Given the description of an element on the screen output the (x, y) to click on. 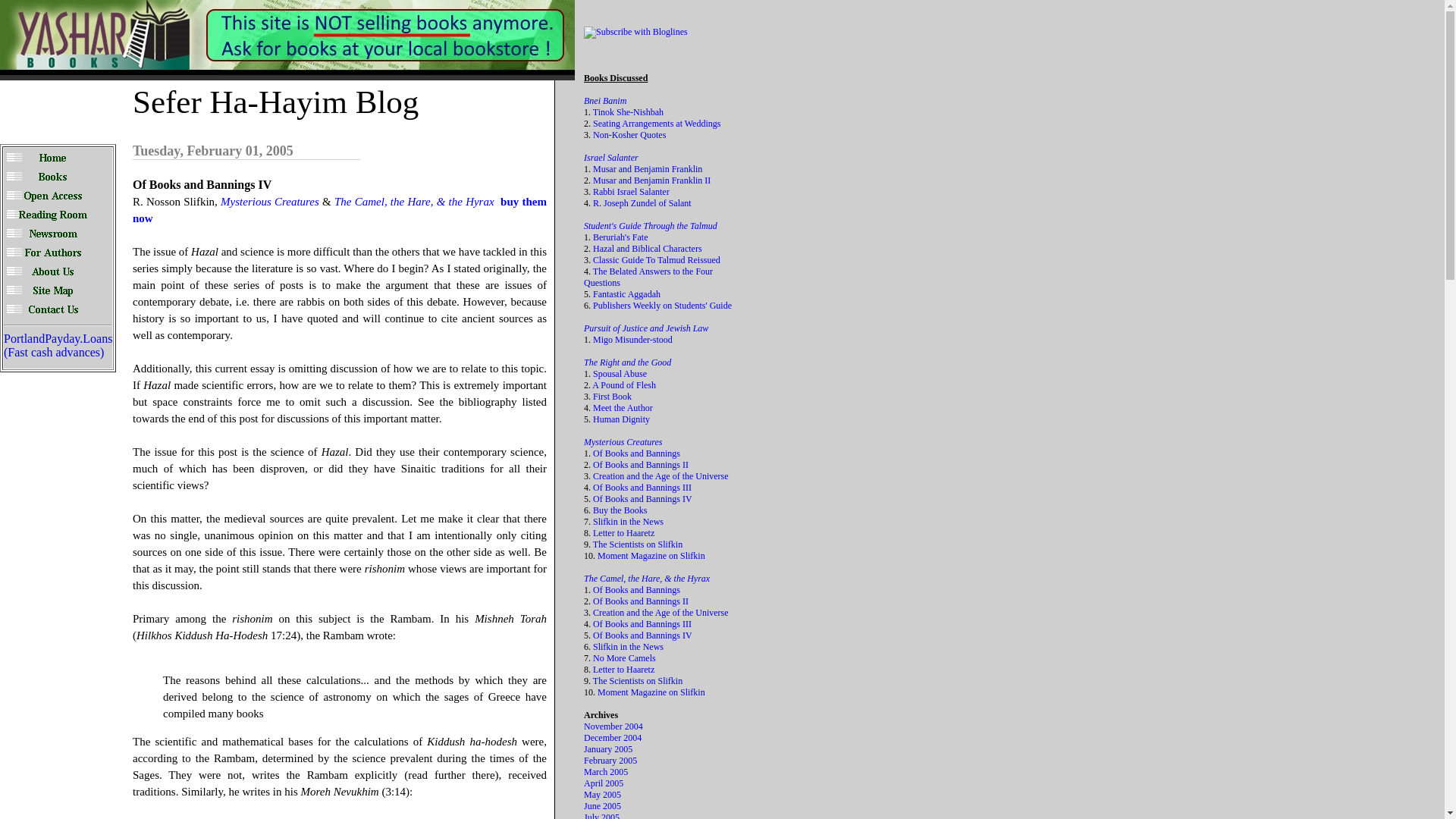
Moment Magazine on Slifkin (650, 555)
Classic Guide To Talmud Reissued (656, 259)
Bnei Banim (604, 100)
Slifkin in the News (627, 521)
The Scientists on Slifkin (637, 543)
Of Books and Bannings II (640, 464)
First Book (611, 396)
Musar and Benjamin Franklin II (651, 180)
Tinok She-Nishbah (627, 112)
Publishers Weekly on Students' Guide (662, 305)
PortlandPayday.Loans - Cash Advances (58, 345)
Israel Salanter (611, 157)
Human Dignity (620, 419)
Fantastic Aggadah (626, 294)
Musar and Benjamin Franklin (646, 168)
